Given the description of an element on the screen output the (x, y) to click on. 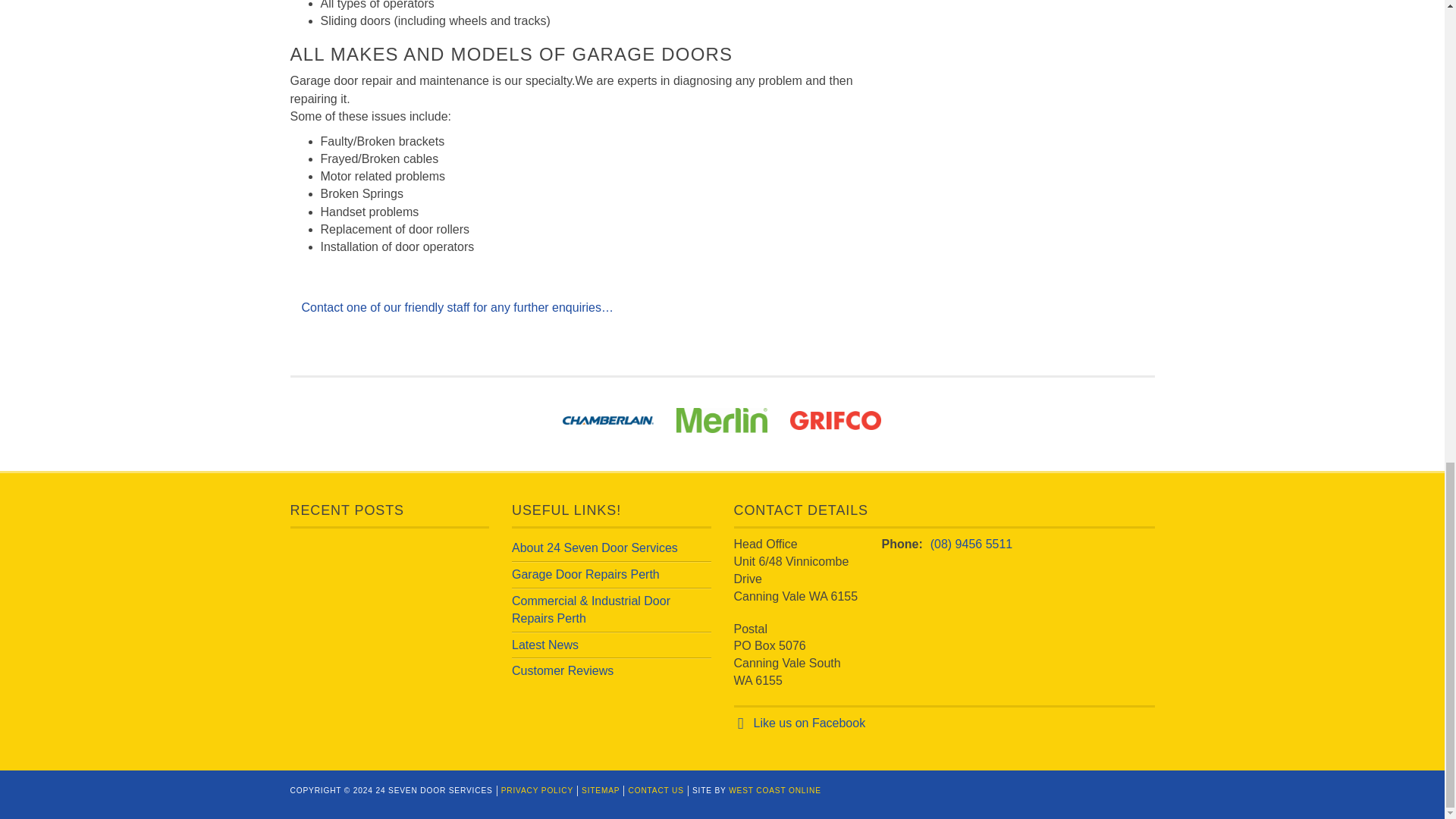
Like us on Facebook (810, 722)
PRIVACY POLICY (536, 790)
About 24 Seven Door Services (595, 547)
WEST COAST ONLINE (775, 790)
Customer Reviews (562, 670)
Latest News (545, 644)
SITEMAP (600, 790)
Garage Door Repairs Perth (585, 574)
CONTACT US (654, 790)
